Given the description of an element on the screen output the (x, y) to click on. 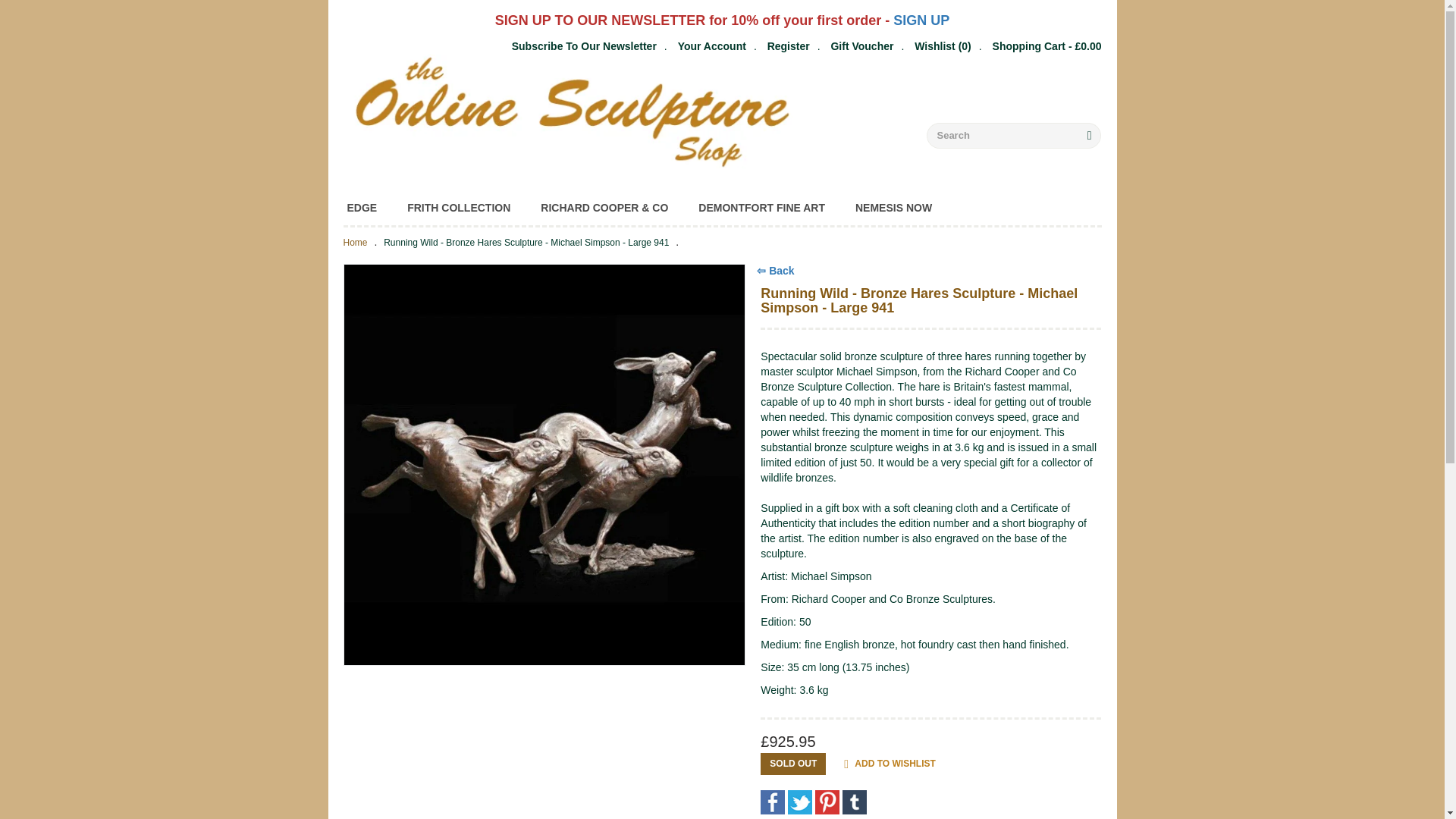
SIGN UP (921, 21)
Your Account (711, 46)
Subscribe To Our Newsletter (584, 46)
FRITH COLLECTION (458, 207)
Gift Voucher (861, 46)
DEMONTFORT FINE ART (761, 207)
Register (788, 46)
EDGE (361, 207)
